Given the description of an element on the screen output the (x, y) to click on. 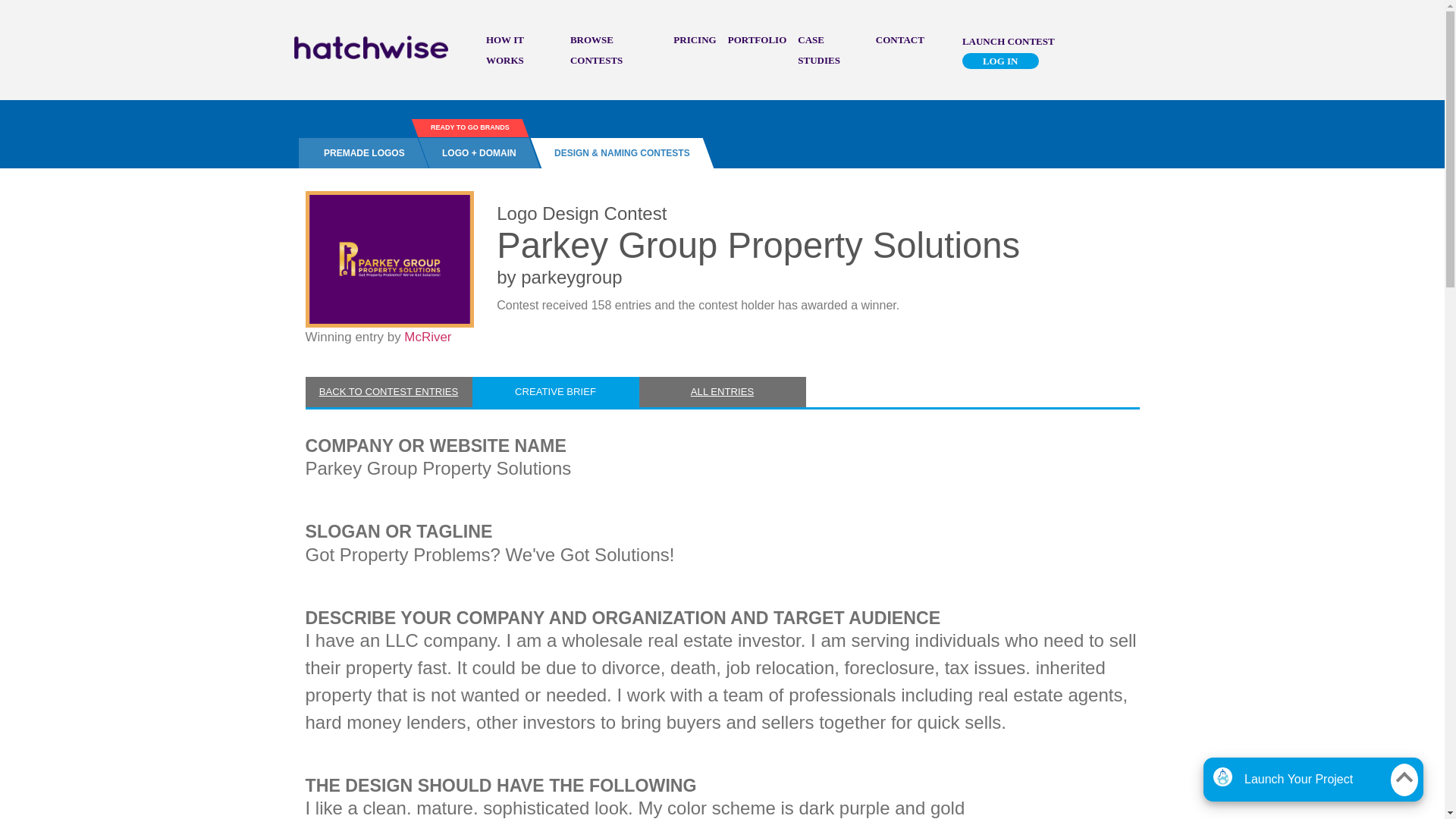
BROWSE CONTESTS (596, 50)
PREMADE LOGOS (357, 153)
LOG IN (1000, 60)
ALL ENTRIES (722, 391)
McRiver (427, 336)
PRICING (694, 39)
BACK TO CONTEST ENTRIES (387, 391)
PORTFOLIO (757, 39)
HOW IT WORKS (505, 50)
CASE STUDIES (818, 50)
